Given the description of an element on the screen output the (x, y) to click on. 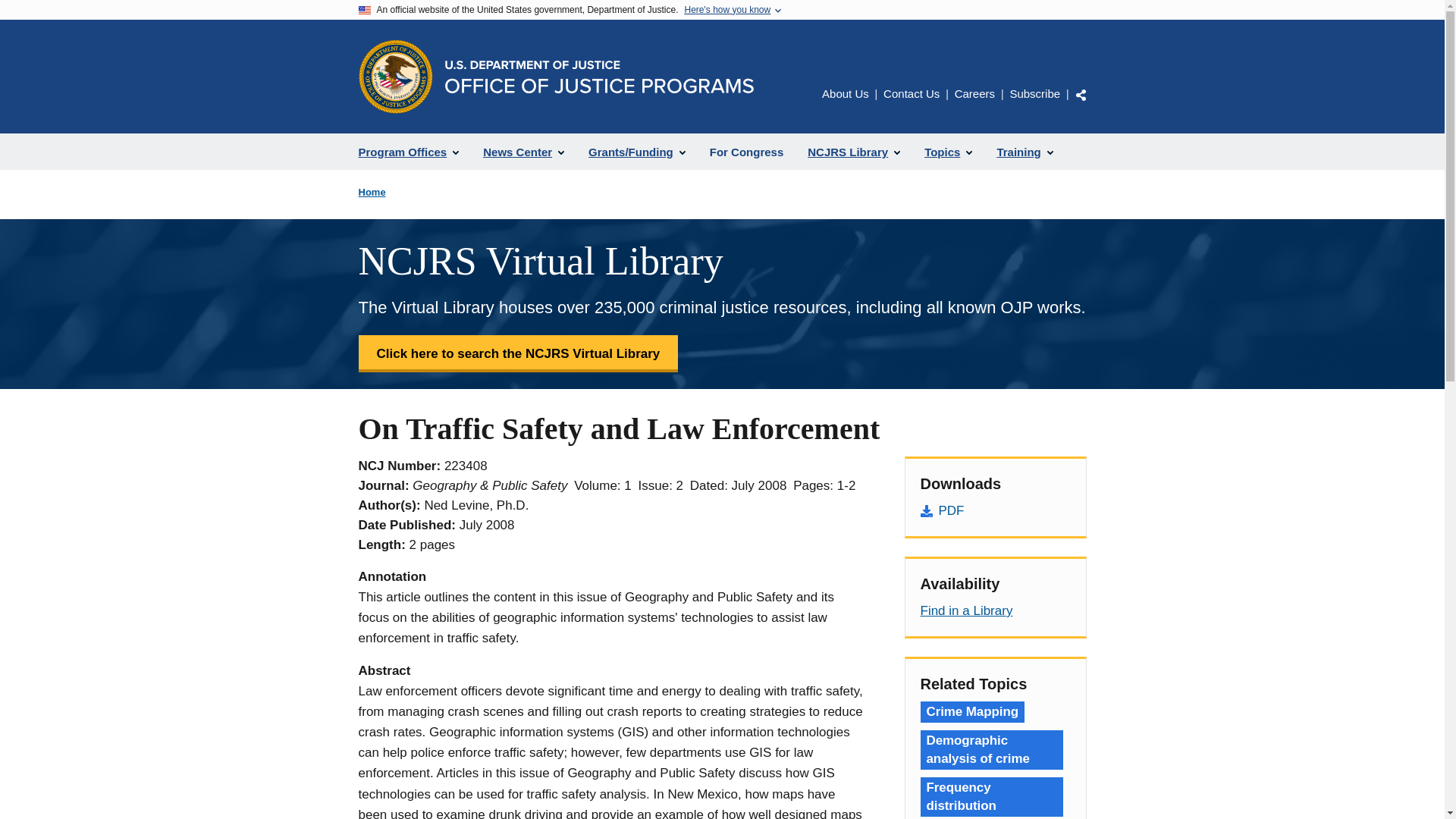
Choose a social sharing platform (1080, 94)
Frequency distribution (991, 796)
Program Offices (408, 151)
News Center (523, 151)
Share (1080, 94)
PDF (995, 510)
Crime Mapping (972, 711)
Office of Justice Programs (395, 76)
NCJRS Library (853, 151)
Training (1024, 151)
Find in a Library (966, 610)
About Us (845, 93)
For Congress (746, 151)
Here's how you know (727, 9)
